Given the description of an element on the screen output the (x, y) to click on. 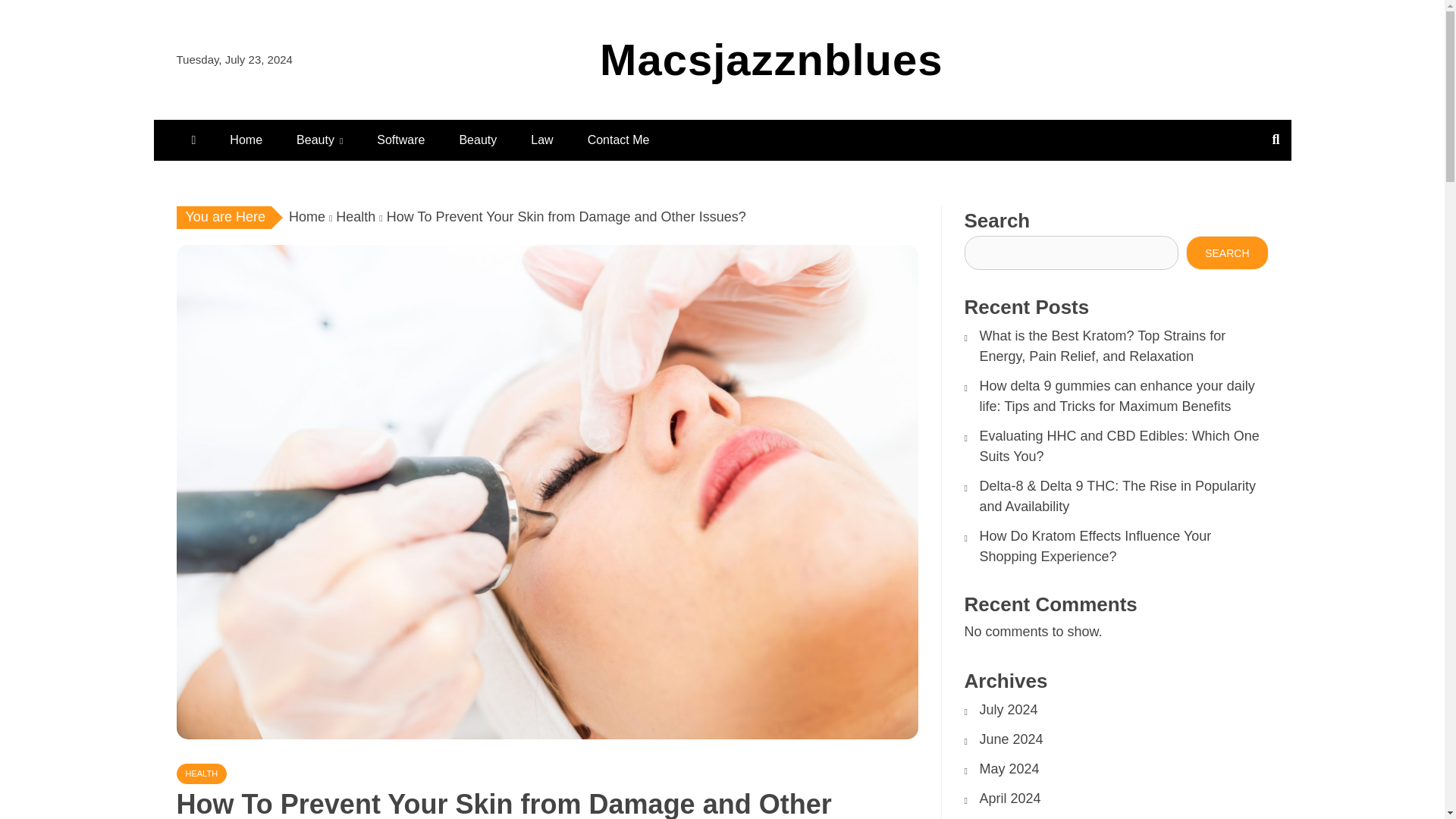
SEARCH (1227, 252)
Software (400, 139)
Home (306, 216)
Macsjazznblues (770, 59)
Beauty (478, 139)
Home (246, 139)
HEALTH (201, 773)
Law (541, 139)
Contact Me (618, 139)
Beauty (319, 139)
Health (355, 216)
